Given the description of an element on the screen output the (x, y) to click on. 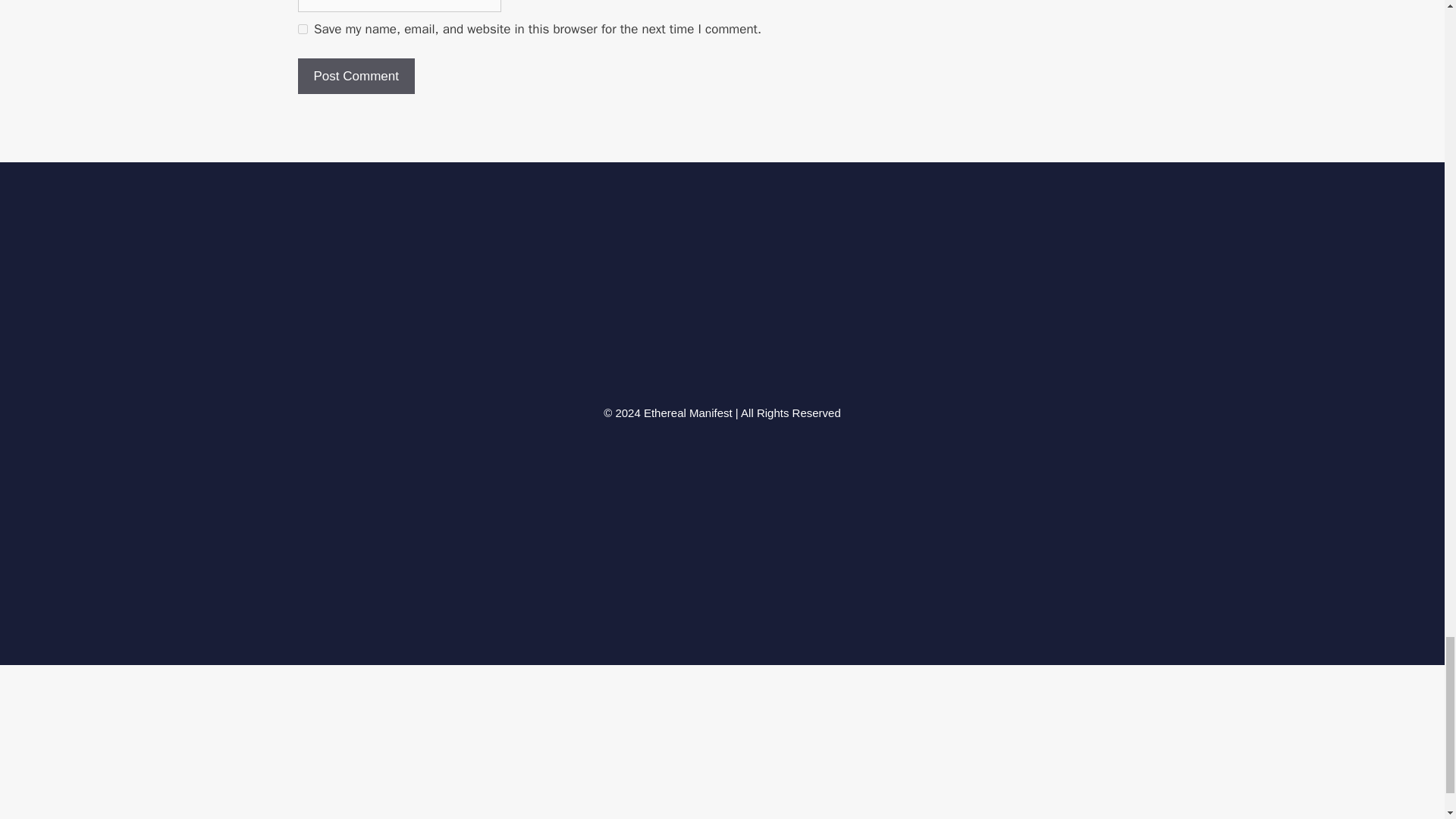
Post Comment (355, 76)
yes (302, 29)
